Given the description of an element on the screen output the (x, y) to click on. 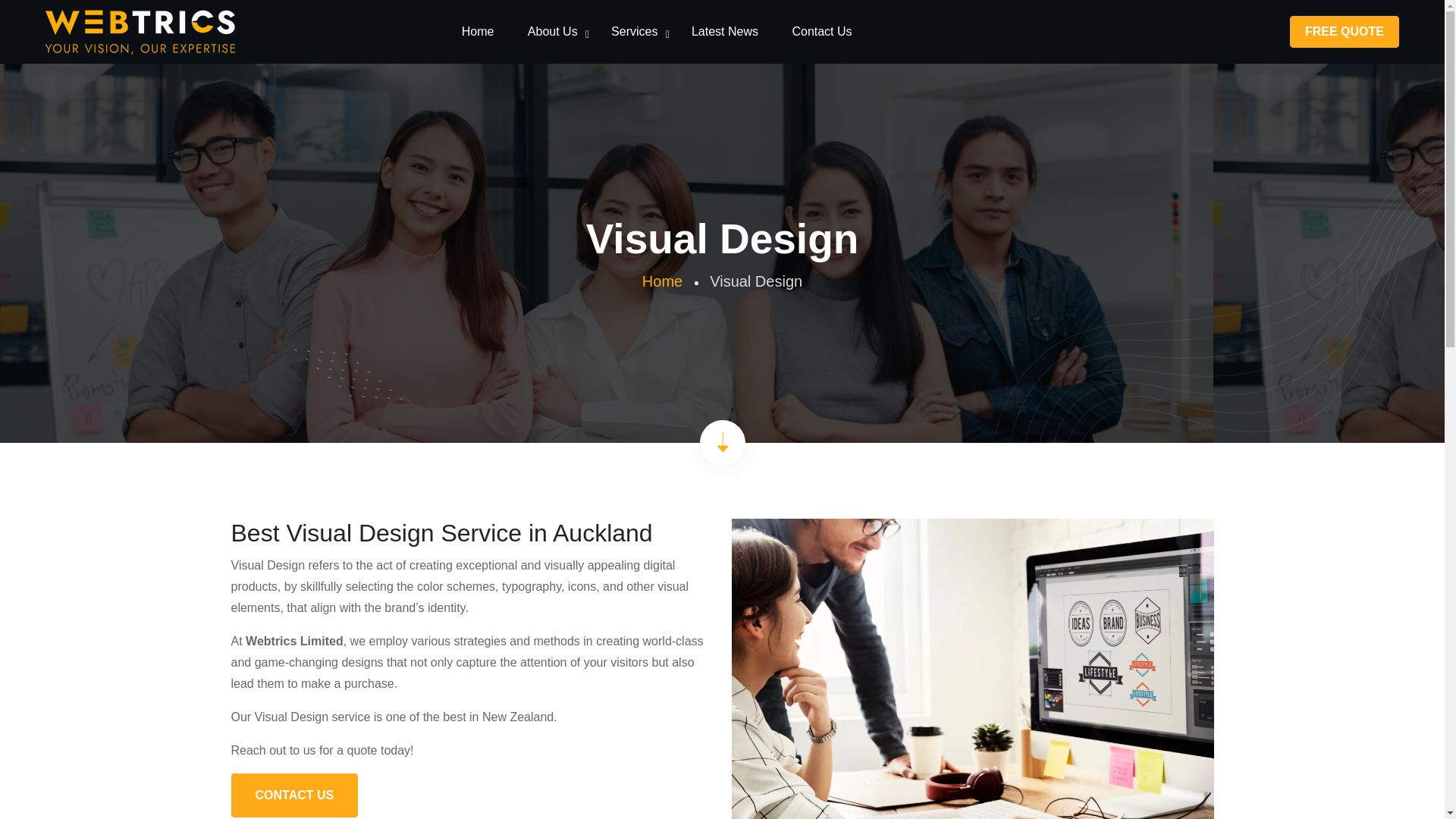
Contact Us (821, 31)
Latest News (724, 31)
Home (662, 280)
FREE QUOTE (1344, 31)
CONTACT US (294, 795)
